Given the description of an element on the screen output the (x, y) to click on. 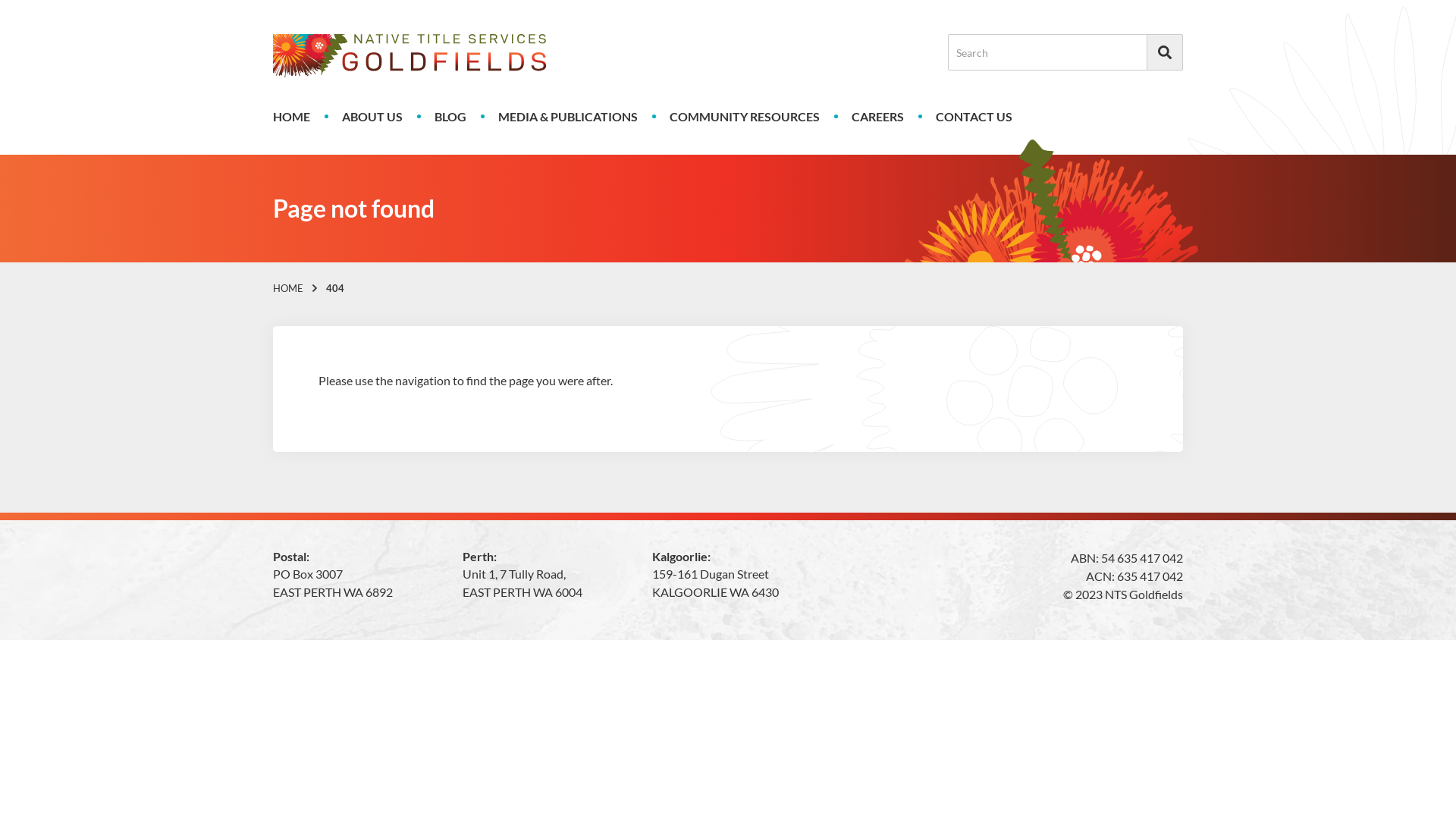
CAREERS Element type: text (877, 116)
ABOUT US Element type: text (372, 116)
COMMUNITY RESOURCES Element type: text (744, 116)
Search Element type: text (1164, 52)
HOME Element type: text (291, 116)
HOME Element type: text (288, 288)
Native Title Services Goldfields Element type: hover (409, 56)
CONTACT US Element type: text (973, 116)
BLOG Element type: text (450, 116)
Search for: Element type: hover (1065, 52)
MEDIA & PUBLICATIONS Element type: text (567, 116)
